Given the description of an element on the screen output the (x, y) to click on. 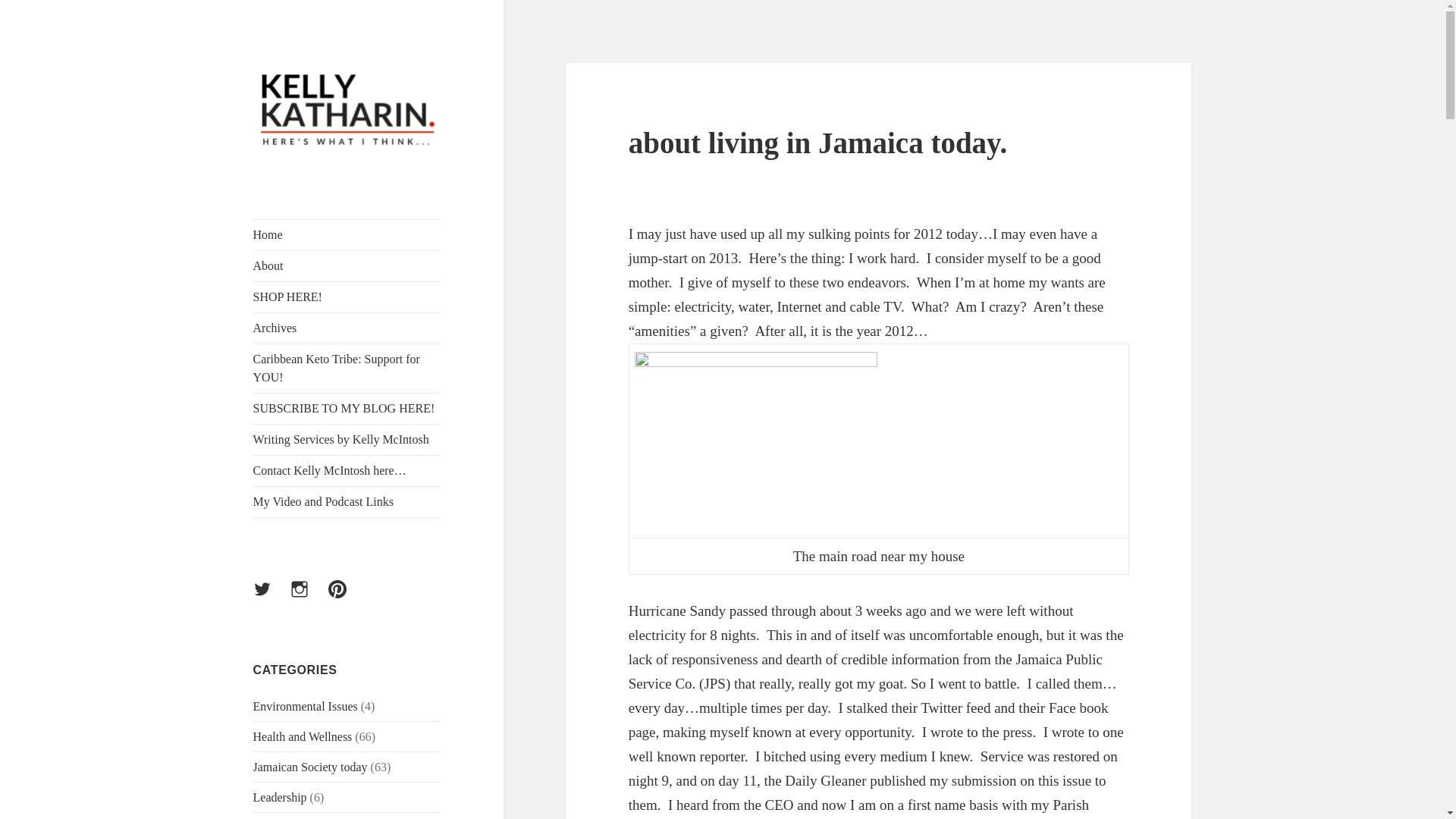
Environmental Issues (305, 706)
Leadership (280, 797)
Health and Wellness (302, 736)
Instagram (307, 597)
My Video and Podcast Links (347, 501)
SUBSCRIBE TO MY BLOG HERE! (347, 408)
About (347, 265)
Home (347, 235)
Caribbean Keto Tribe: Support for YOU! (347, 368)
SHOP HERE! (347, 296)
Archives (347, 327)
Jamaican Society today (310, 766)
Twitter (271, 597)
Writing Services by Kelly McIntosh (347, 440)
Pinterest (347, 597)
